Given the description of an element on the screen output the (x, y) to click on. 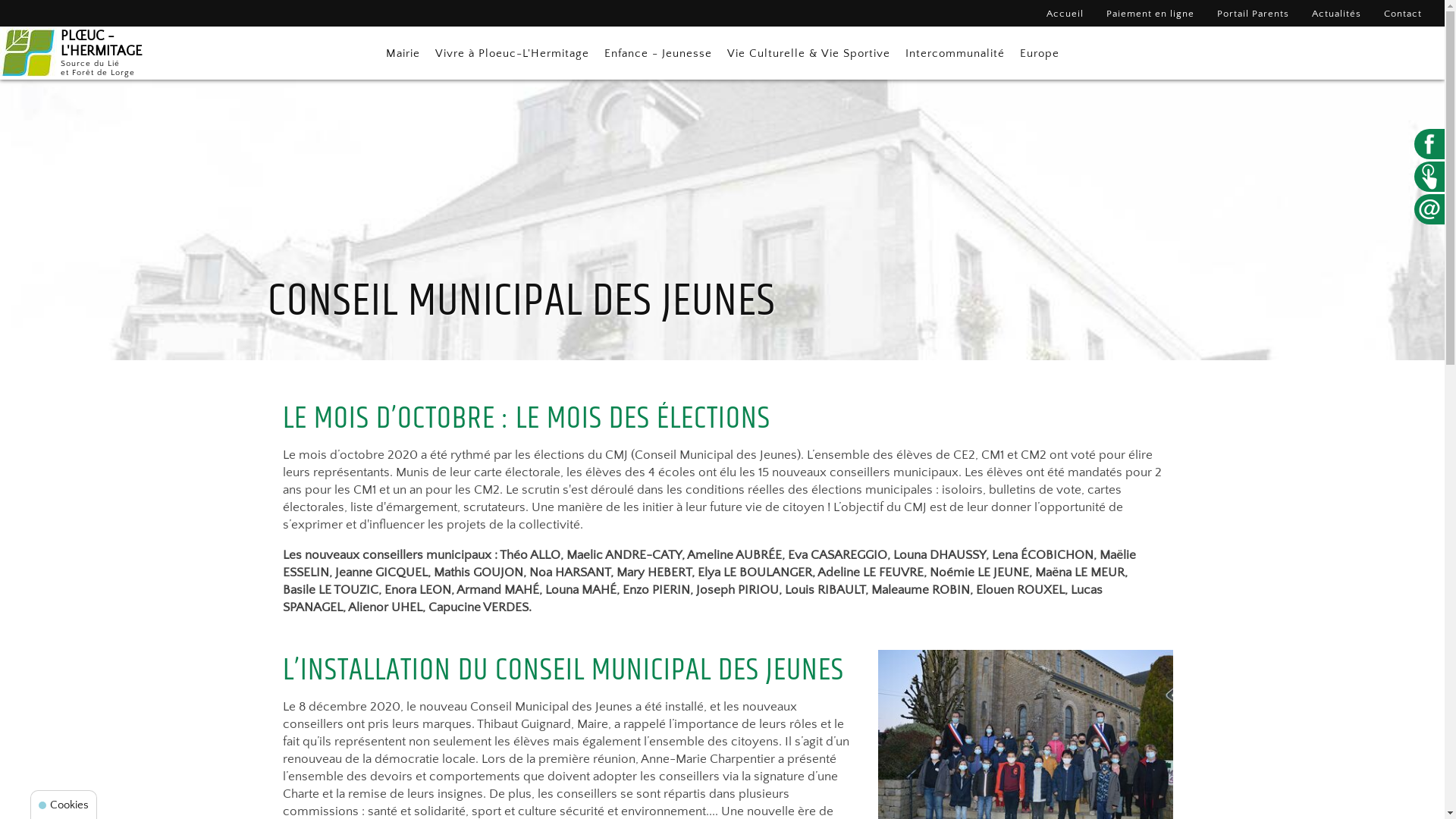
Contact Element type: text (1402, 13)
Paiement en ligne Element type: text (1150, 13)
Accueil Element type: text (1065, 13)
Ploeuc L'Hermitage Element type: hover (28, 52)
Portail Parents Element type: text (1252, 13)
